Given the description of an element on the screen output the (x, y) to click on. 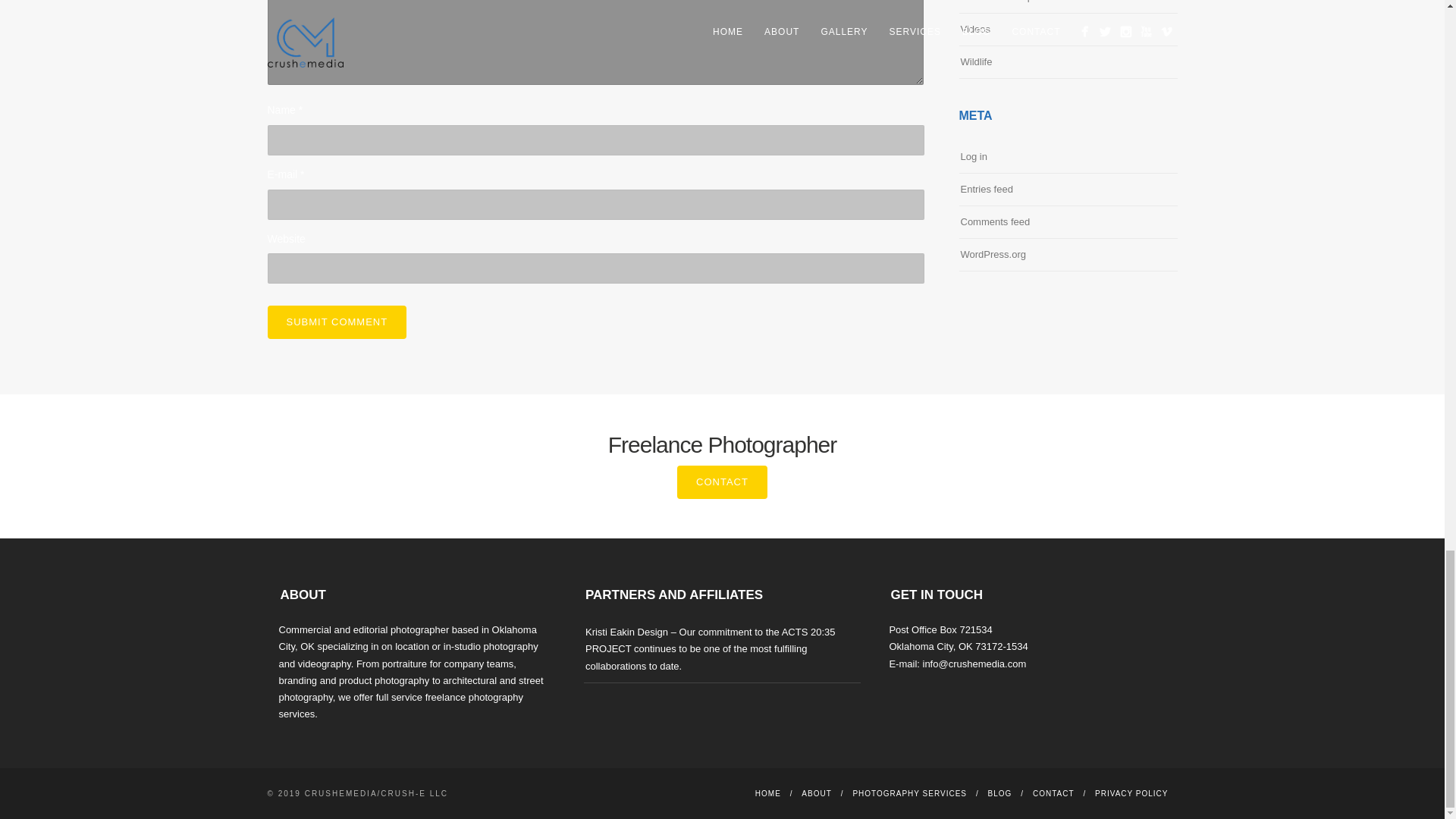
Submit comment (336, 322)
Submit comment (336, 322)
